Given the description of an element on the screen output the (x, y) to click on. 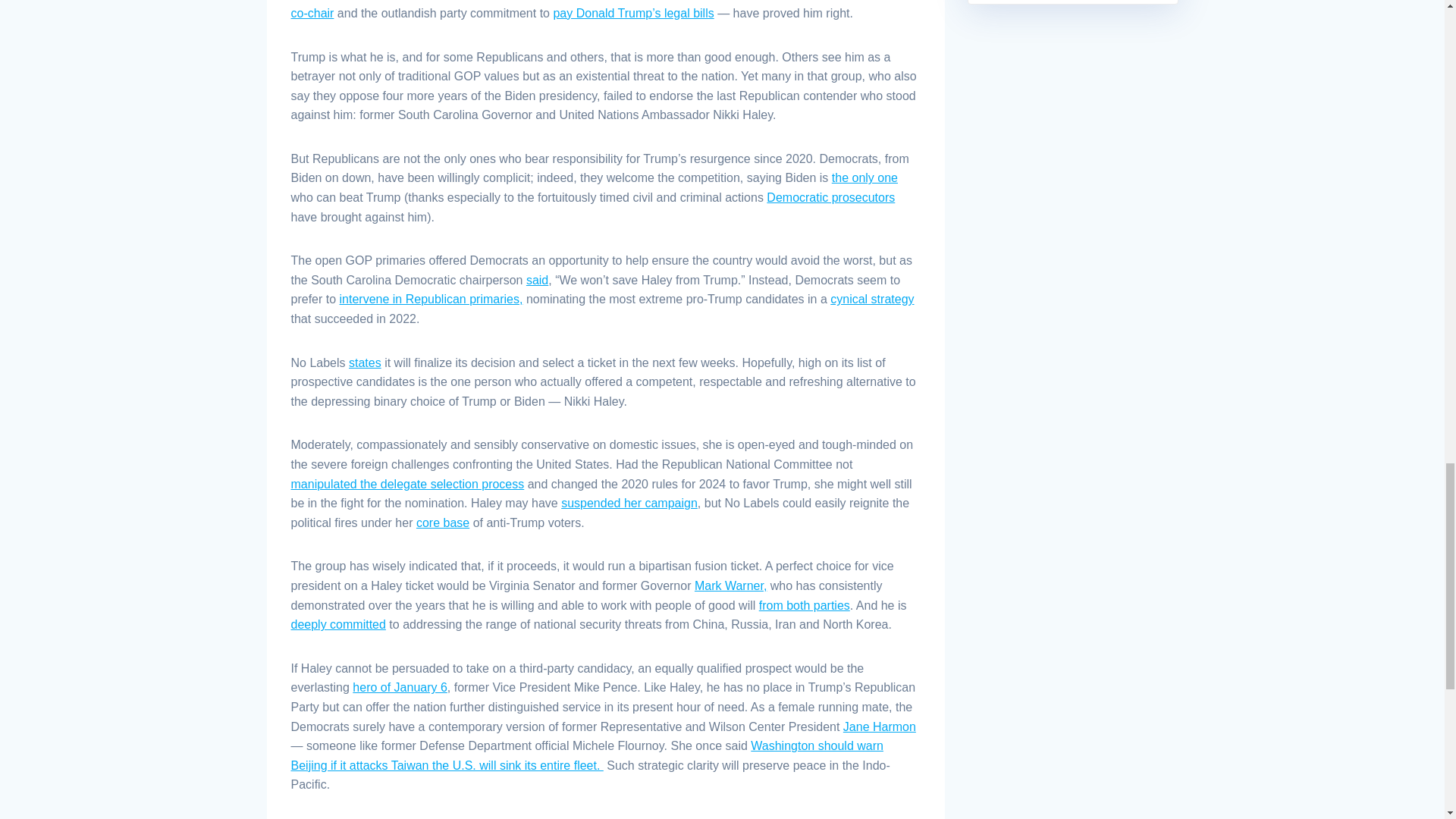
suspended her campaign (628, 502)
hero of January 6 (399, 686)
Republican National Committee co-chair (596, 9)
states (365, 362)
intervene in Republican primaries, (430, 298)
core base (442, 522)
said (536, 279)
deeply committed (338, 624)
the only one (864, 177)
manipulated the delegate selection process (407, 483)
Jane Harmon (879, 726)
Democratic prosecutors (831, 196)
from both parties (804, 604)
cynical strategy (871, 298)
